Given the description of an element on the screen output the (x, y) to click on. 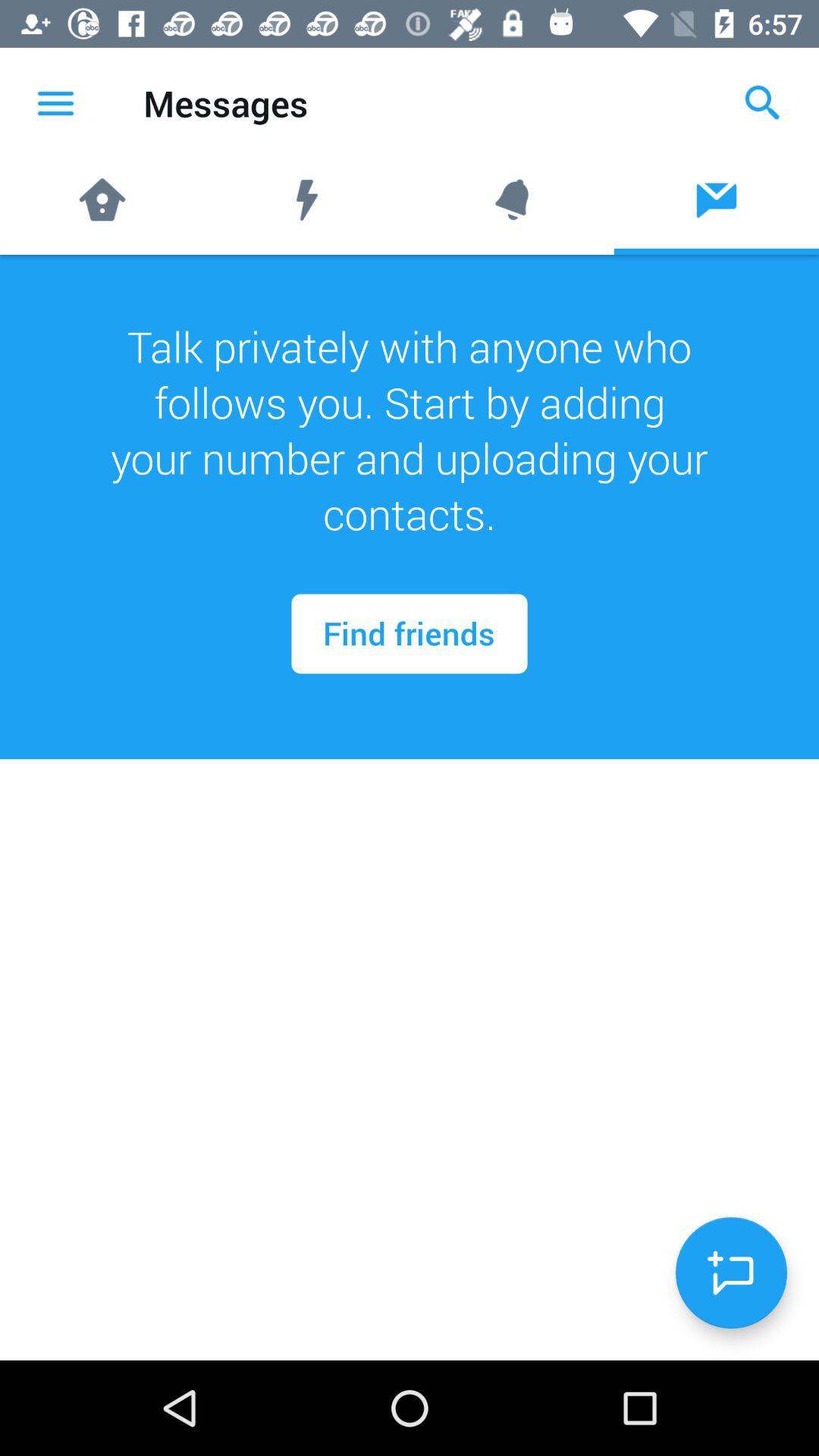
select talk privately with icon (409, 430)
